Given the description of an element on the screen output the (x, y) to click on. 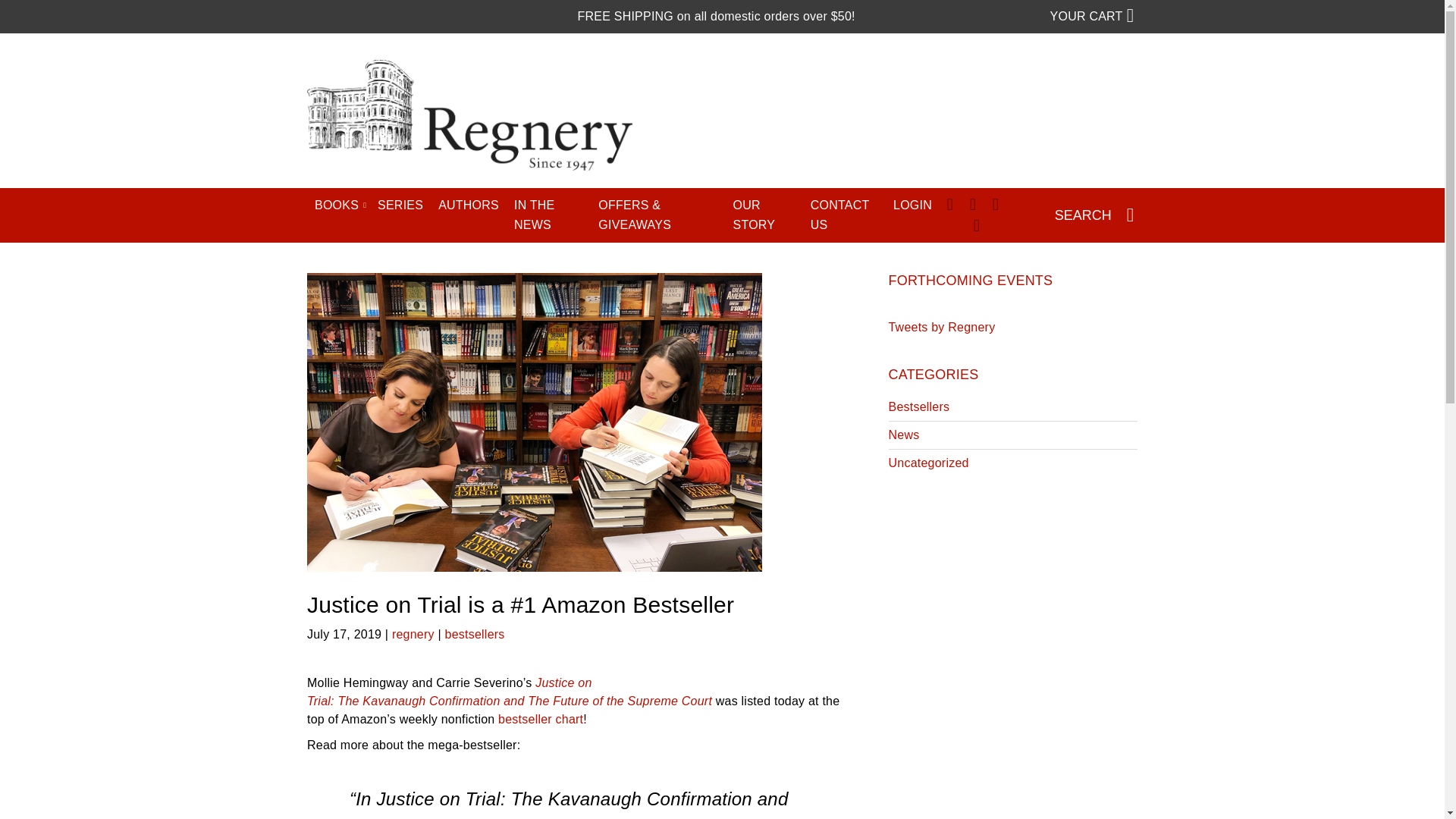
LOGIN (912, 205)
IN THE NEWS (548, 215)
AUTHORS (468, 205)
bestseller chart (540, 718)
OUR STORY (764, 215)
SEARCH (1095, 215)
bestsellers (475, 634)
Follow us on Facebook (949, 203)
Follow us on YouTube (975, 224)
CONTACT US (844, 215)
regnery (412, 634)
BOOKS (338, 205)
SERIES (399, 205)
Tweets by Regnery (941, 327)
